Given the description of an element on the screen output the (x, y) to click on. 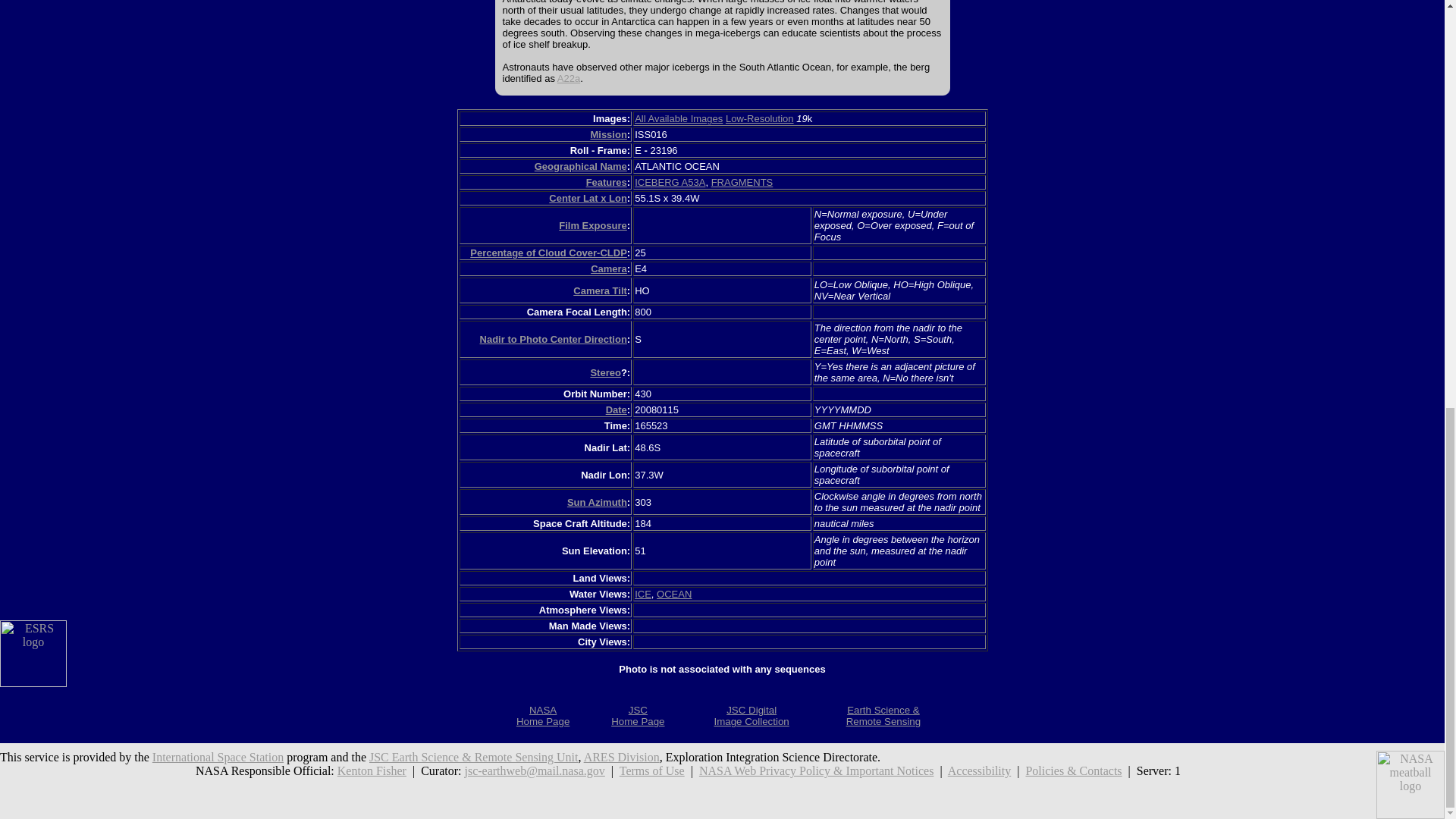
Kenton Fisher (371, 770)
Search for other records with "OCEAN". (673, 593)
ARES Division (542, 715)
A22a (621, 757)
ICEBERG A53A (568, 78)
Search for other records with "ICE". (637, 715)
Geographical Name (669, 182)
OCEAN (642, 593)
Percentage of Cloud Cover-CLDP (580, 165)
Camera (673, 593)
Stereo (548, 252)
FRAGMENTS (609, 268)
Camera Tilt (604, 372)
